Given the description of an element on the screen output the (x, y) to click on. 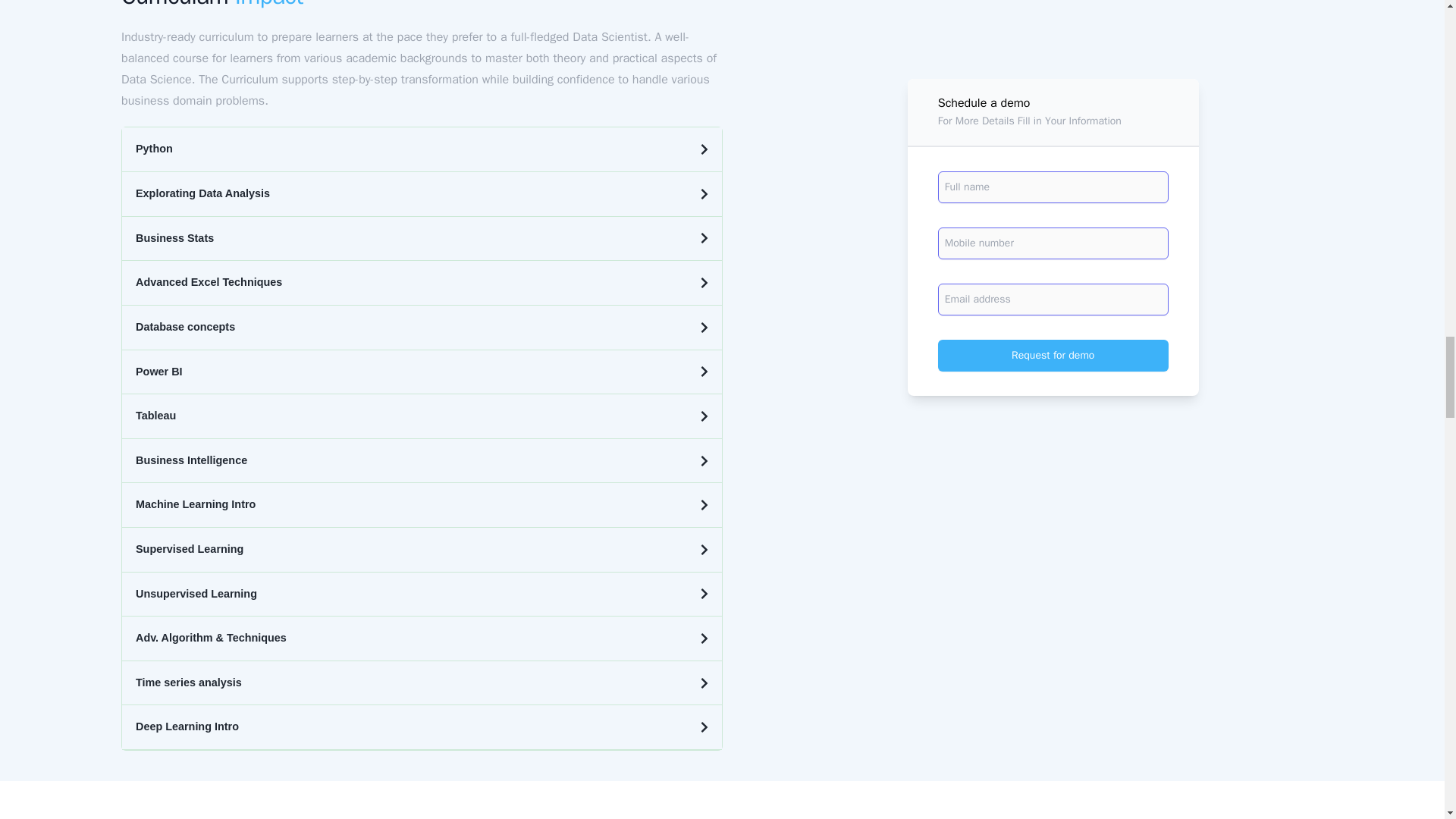
Tableau (422, 415)
Database concepts (422, 327)
Power BI (422, 372)
Explorating Data Analysis (422, 194)
Time series analysis (422, 682)
Unsupervised Learning (422, 594)
Supervised Learning (422, 549)
Business Intelligence (422, 461)
Deep Learning Intro (422, 727)
Advanced Excel Techniques (422, 283)
Request for demo (1053, 257)
Business Stats (422, 239)
Machine Learning Intro (422, 505)
Python (422, 149)
